Given the description of an element on the screen output the (x, y) to click on. 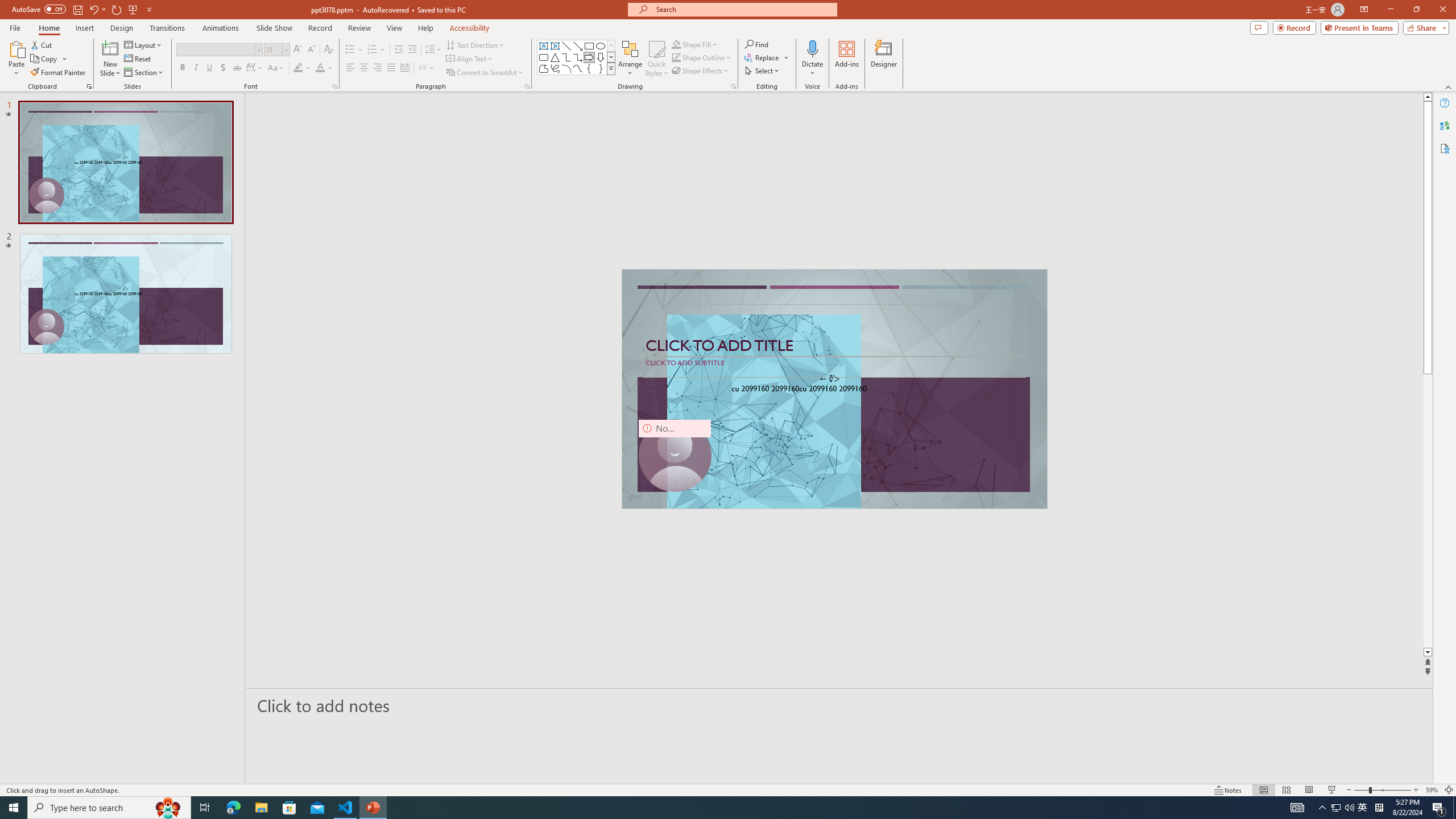
TextBox 7 (829, 378)
